Given the description of an element on the screen output the (x, y) to click on. 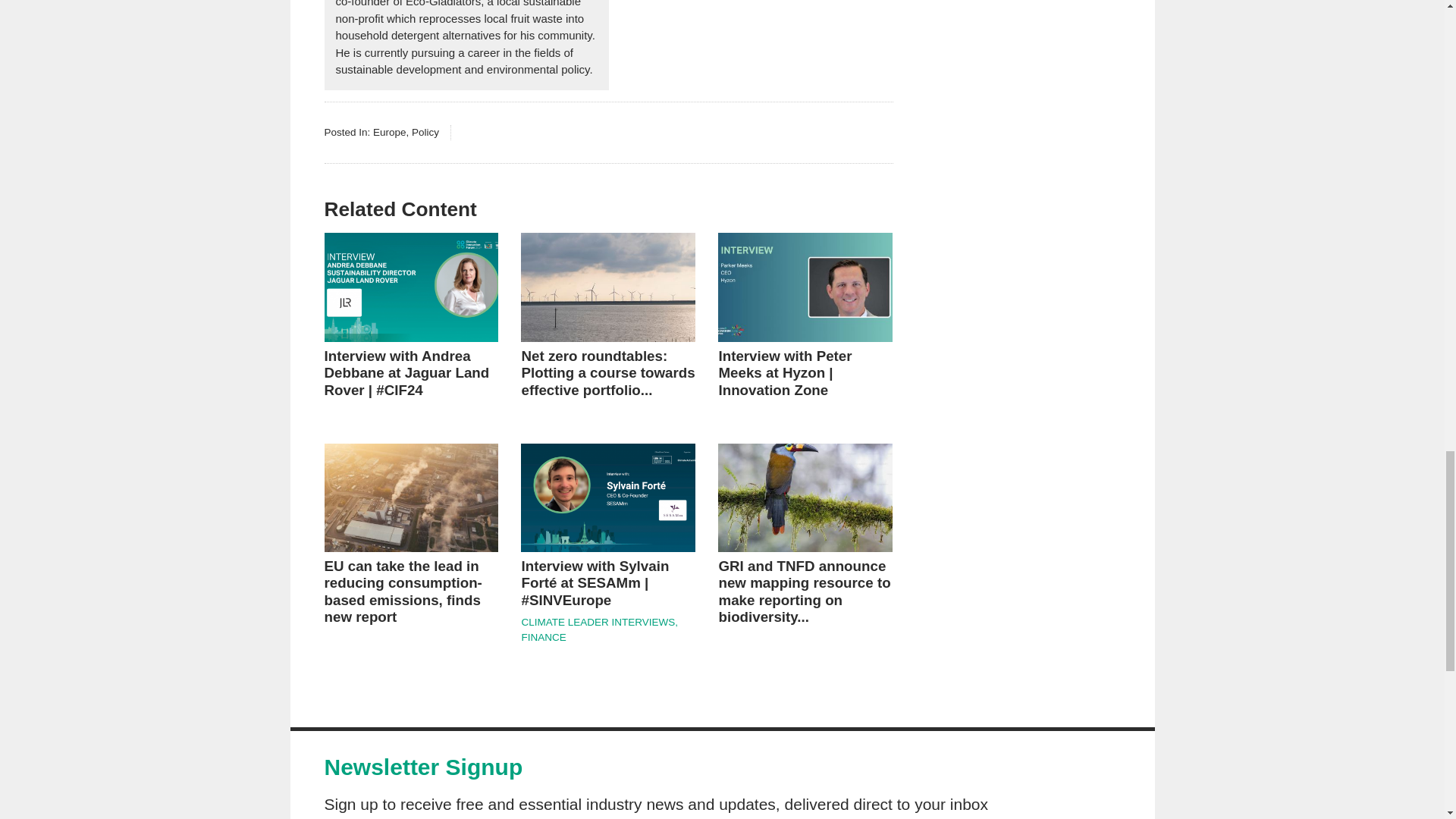
Europe (389, 132)
Policy (425, 132)
